Given the description of an element on the screen output the (x, y) to click on. 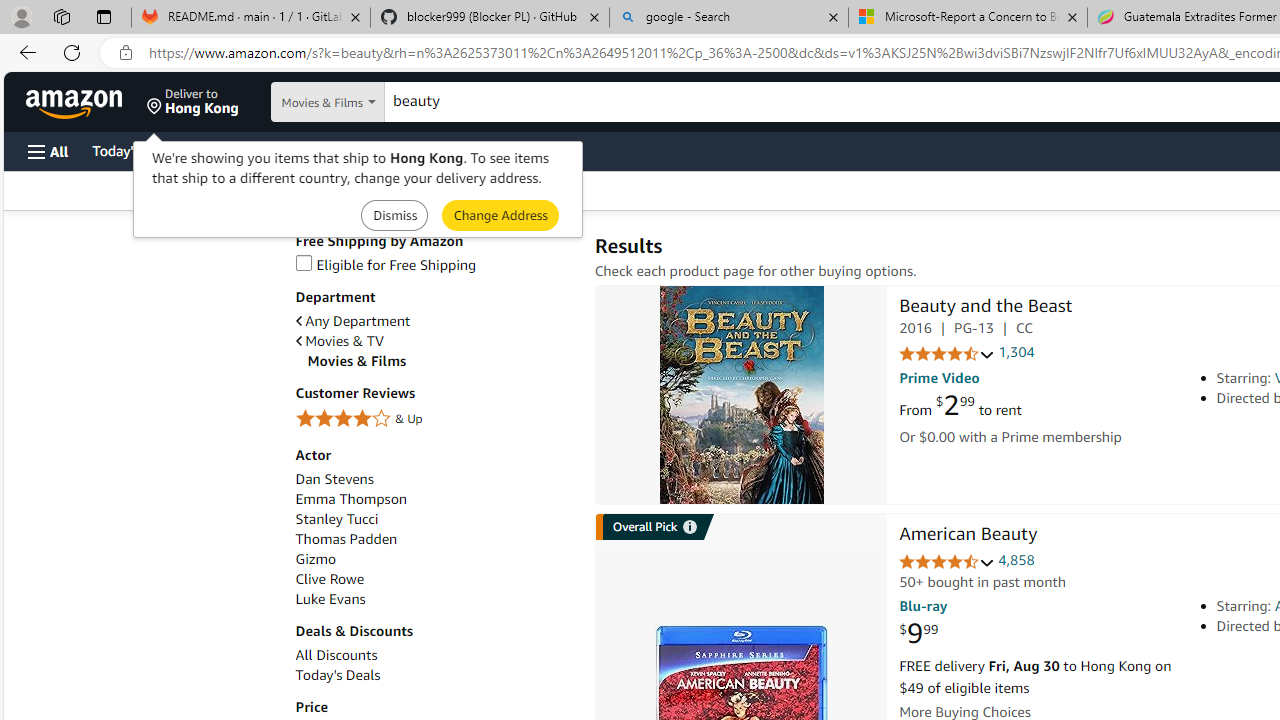
Gizmo (434, 559)
Movies & TV (434, 340)
Luke Evans (330, 599)
4.6 out of 5 stars (946, 562)
Movies & Films (440, 361)
Any Department (352, 321)
Stanley Tucci (336, 519)
Registry (360, 150)
Clive Rowe (434, 579)
